Given the description of an element on the screen output the (x, y) to click on. 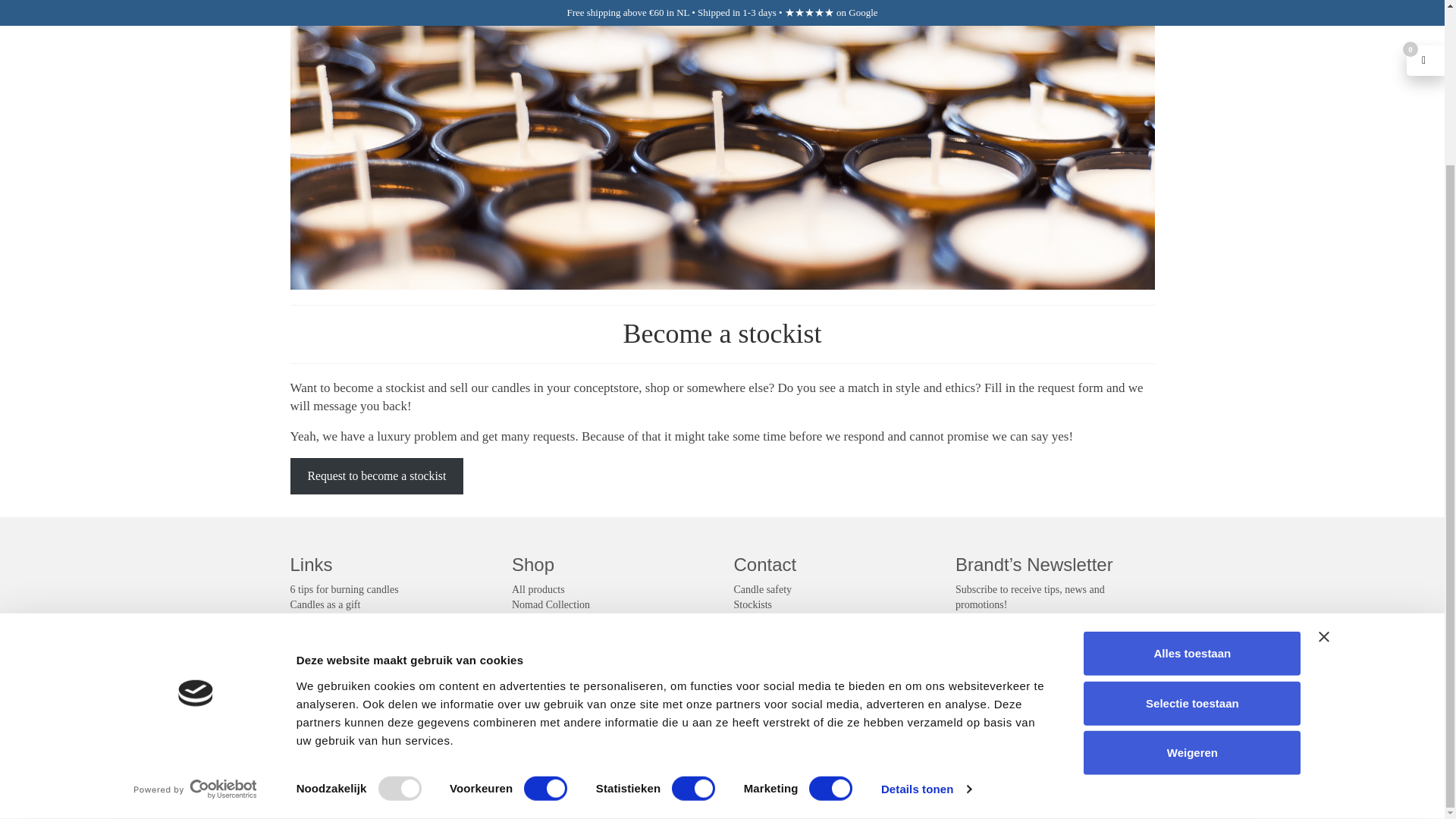
Weigeren (1191, 556)
Selectie toestaan (1191, 506)
Alles toestaan (1191, 456)
Details tonen (925, 592)
